Given the description of an element on the screen output the (x, y) to click on. 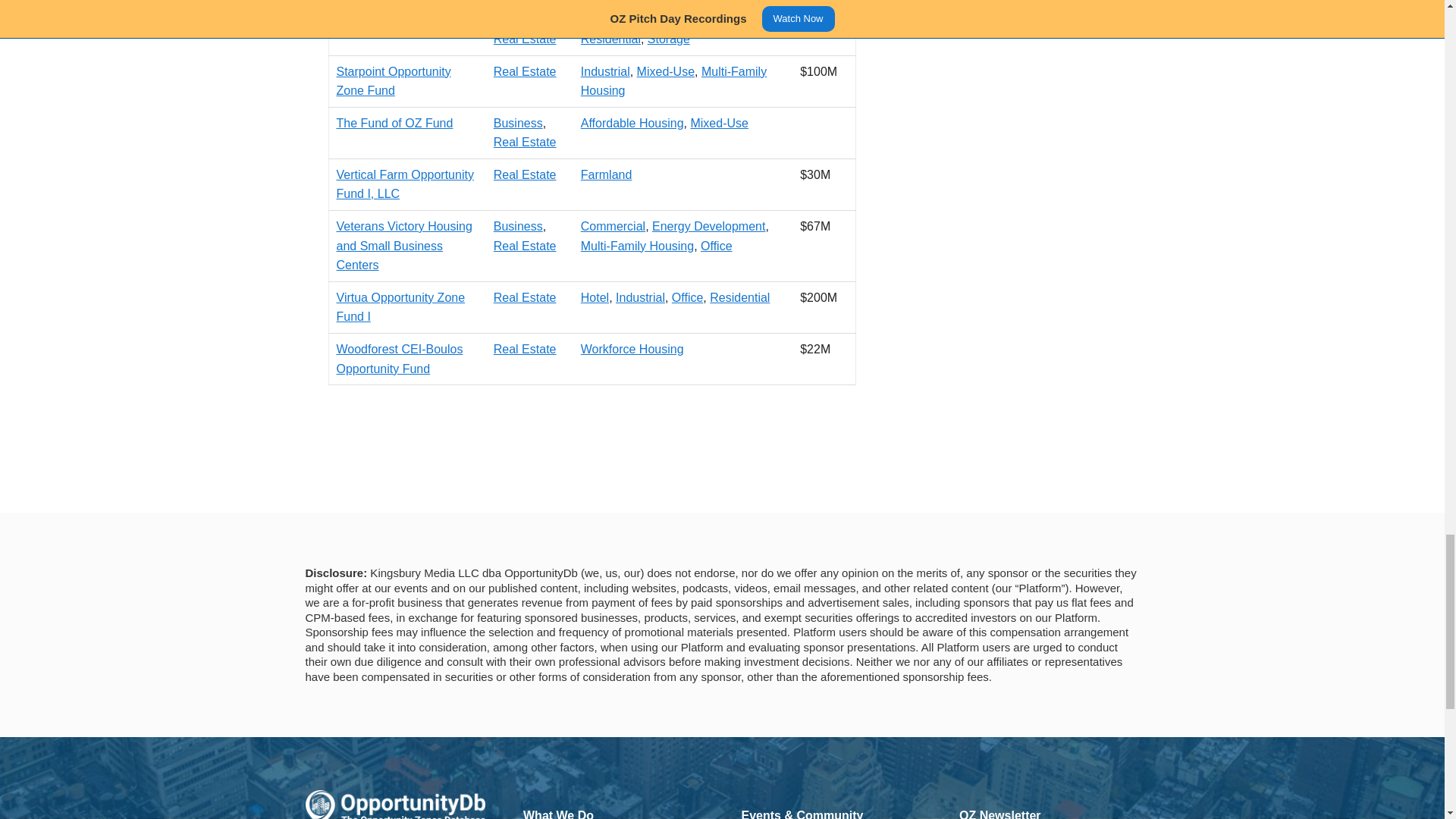
3rd party ad content (721, 463)
